Given the description of an element on the screen output the (x, y) to click on. 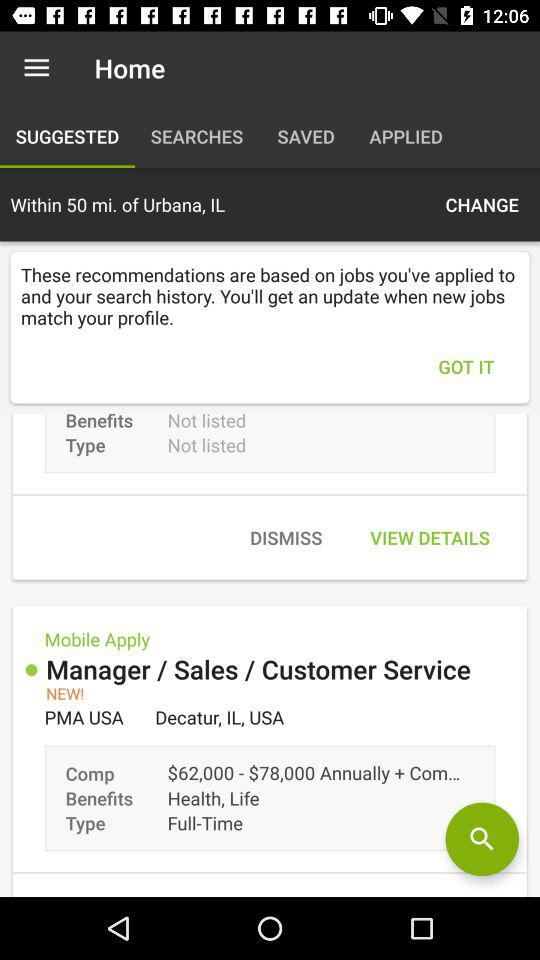
open icon above the these recommendations are icon (482, 204)
